Given the description of an element on the screen output the (x, y) to click on. 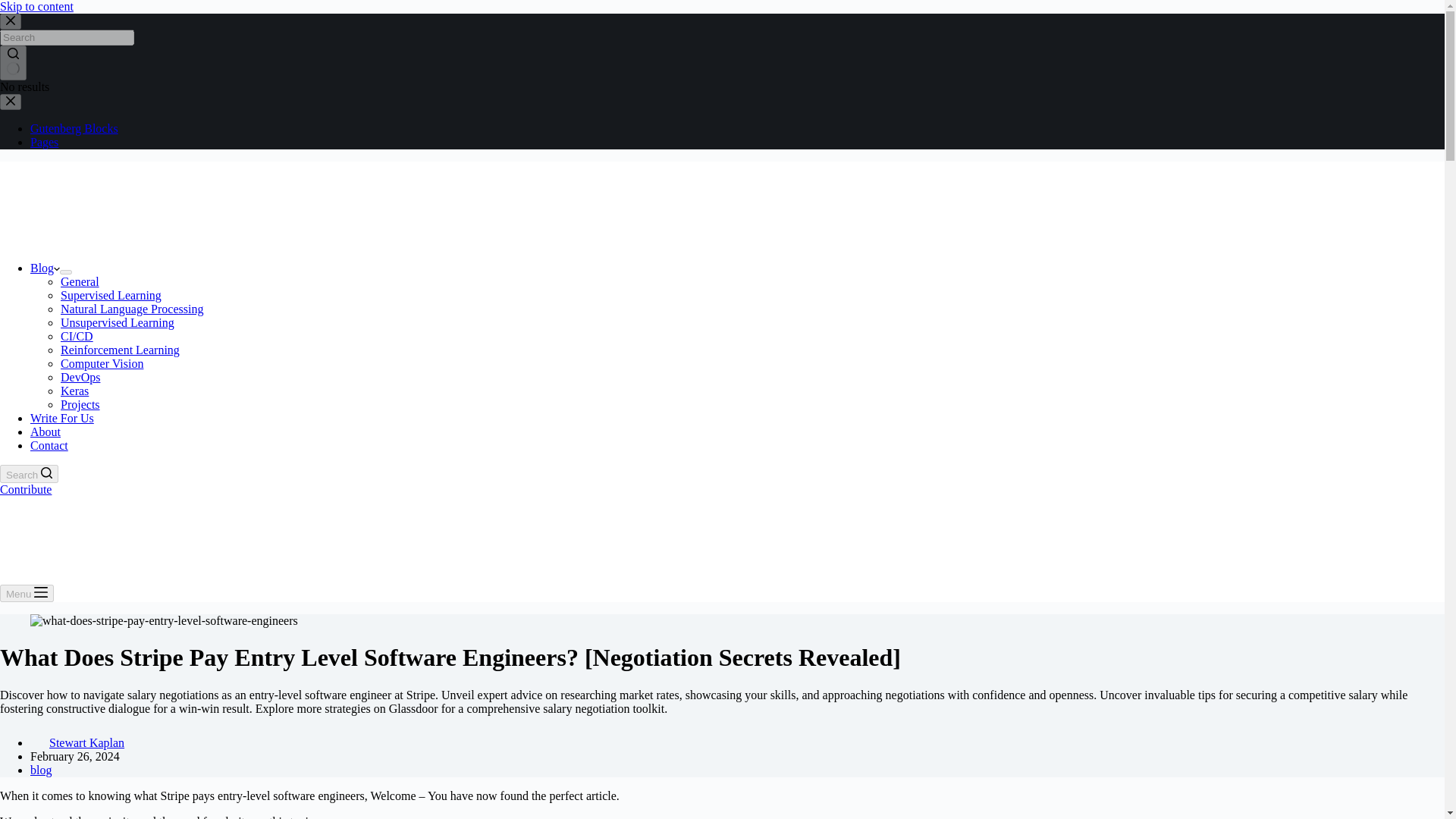
Posts by Stewart Kaplan (86, 742)
About (45, 431)
Write For Us (62, 418)
Reinforcement Learning (120, 349)
Search (29, 474)
Contribute (25, 489)
blog (40, 769)
Keras (74, 390)
Projects (80, 404)
Gutenberg Blocks (73, 128)
